Given the description of an element on the screen output the (x, y) to click on. 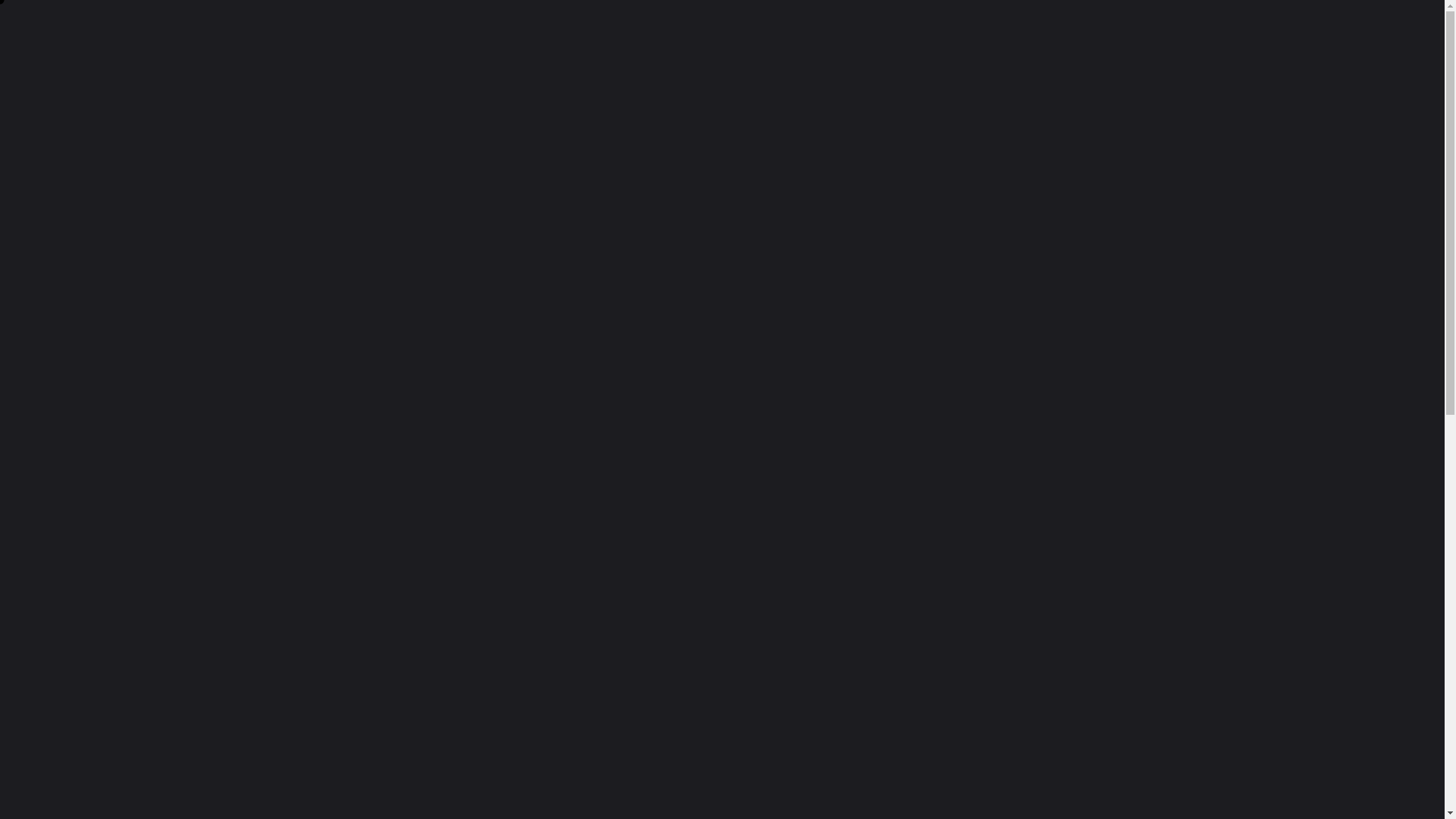
TSCHUGGER Element type: text (284, 330)
Valais/Wallis Promotion Element type: text (721, 330)
Wyhus Ryf Element type: text (1158, 330)
creative
collective Element type: text (184, 48)
